Given the description of an element on the screen output the (x, y) to click on. 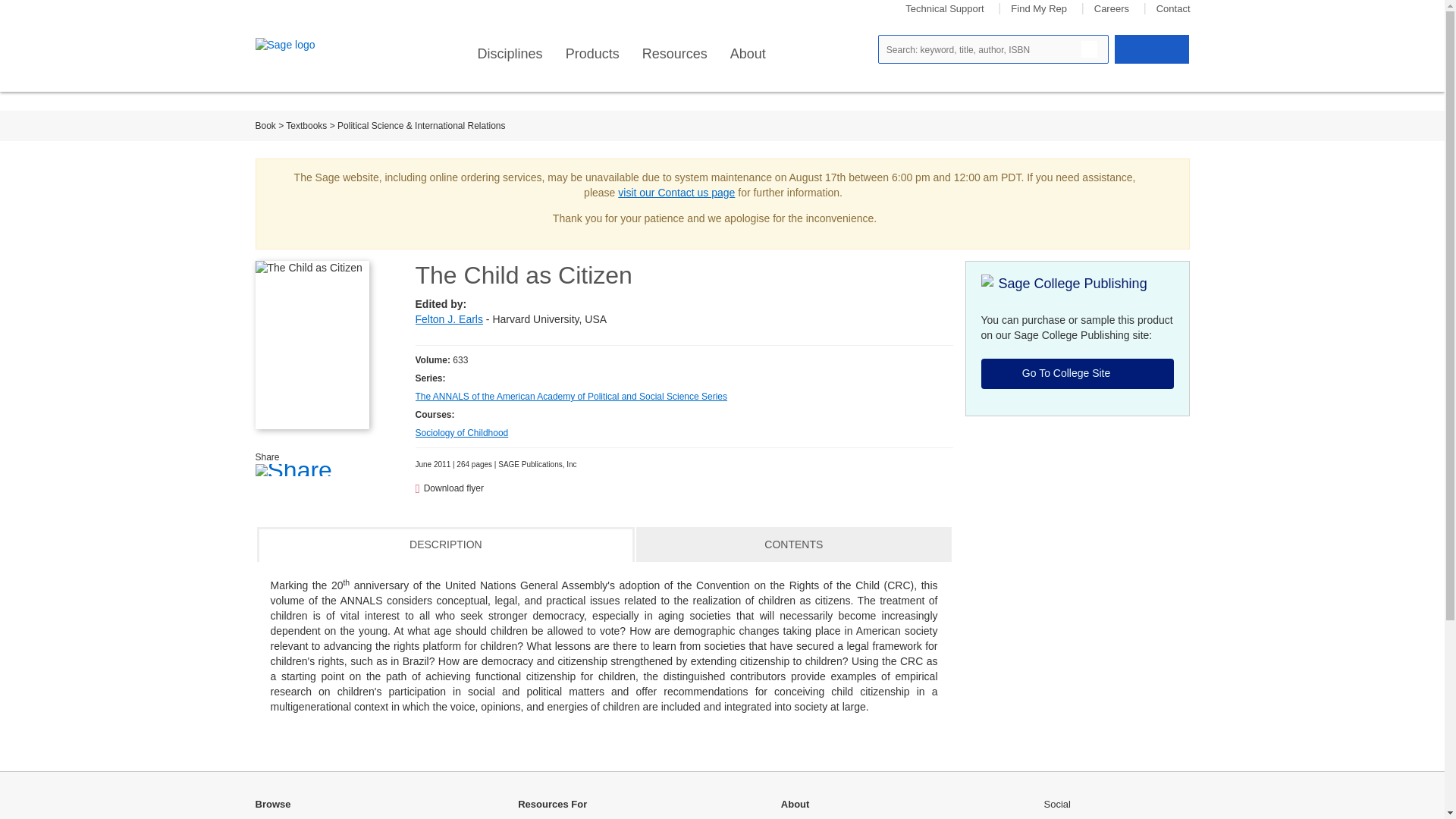
Sage logo: link back to homepage (309, 45)
Careers (1111, 8)
Search (1089, 48)
Contact (1173, 8)
Disciplines (509, 53)
Find My Rep (1038, 8)
Technical Support (944, 8)
